Given the description of an element on the screen output the (x, y) to click on. 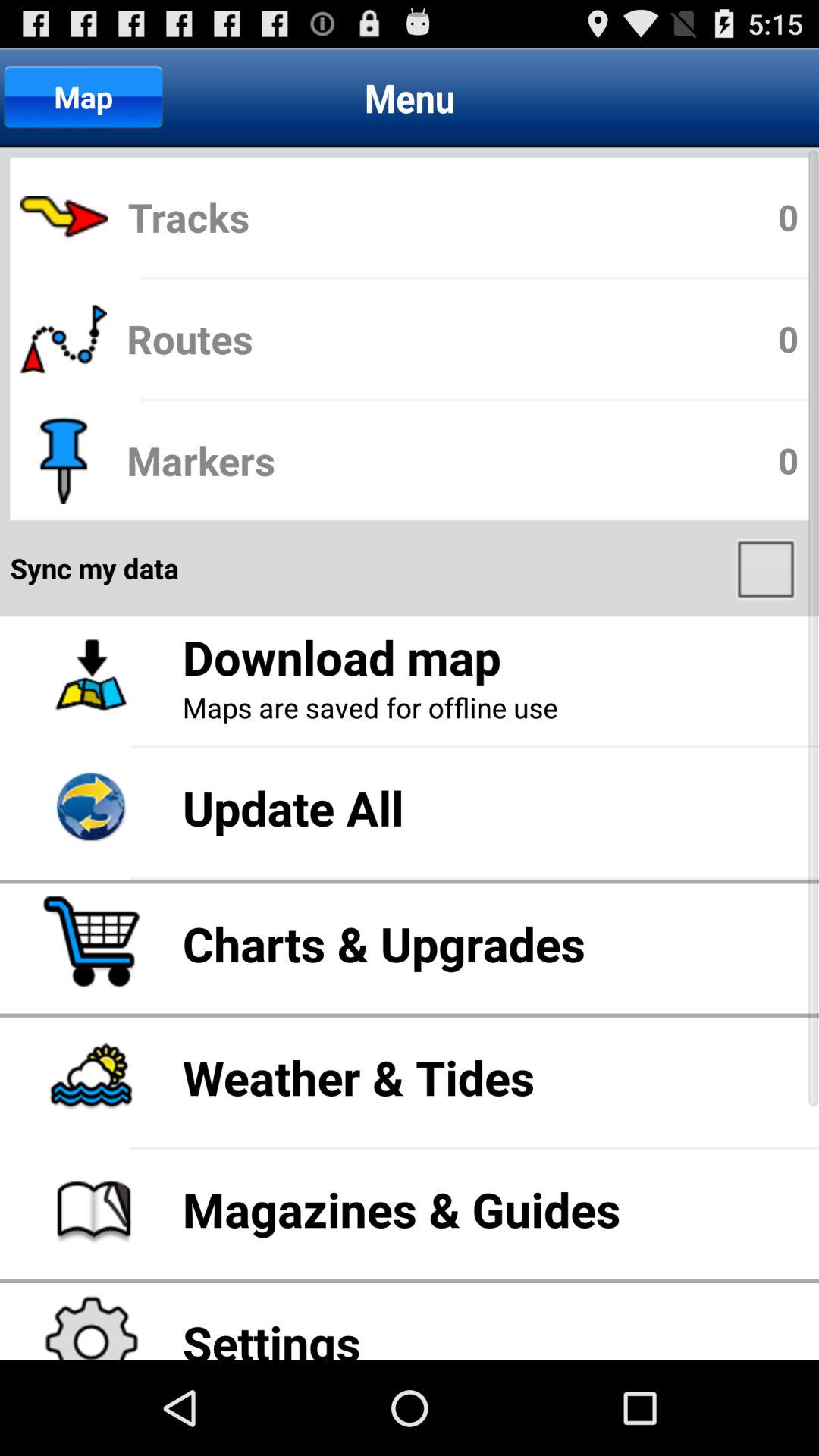
select the item to the right of the sync my data item (767, 567)
